Given the description of an element on the screen output the (x, y) to click on. 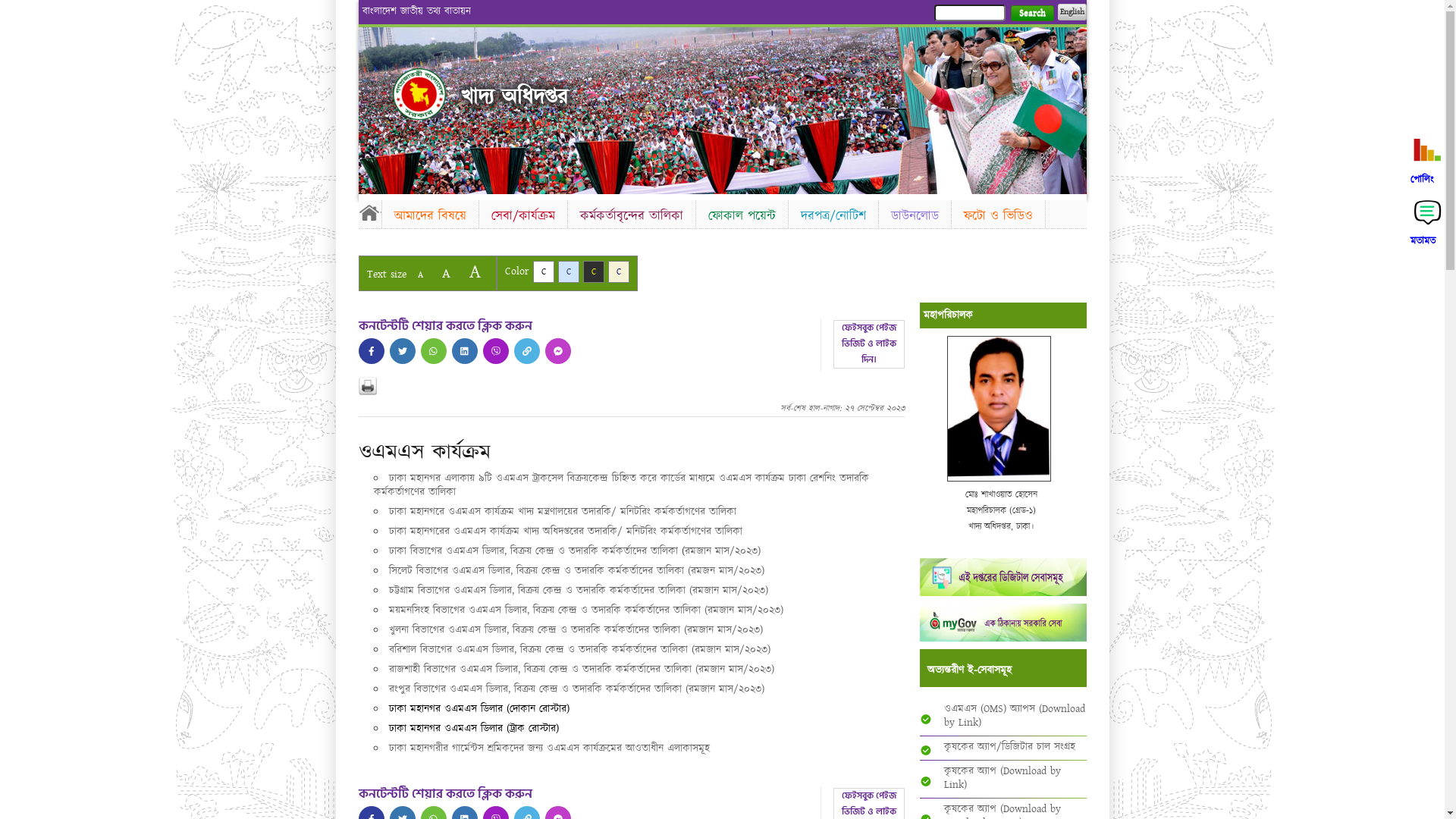
A Element type: text (419, 274)
C Element type: text (568, 271)
Home Element type: hover (368, 211)
C Element type: text (592, 271)
C Element type: text (542, 271)
A Element type: text (445, 273)
Search Element type: text (1031, 13)
Home Element type: hover (418, 93)
A Element type: text (474, 271)
English Element type: text (1071, 11)
C Element type: text (618, 271)
